Given the description of an element on the screen output the (x, y) to click on. 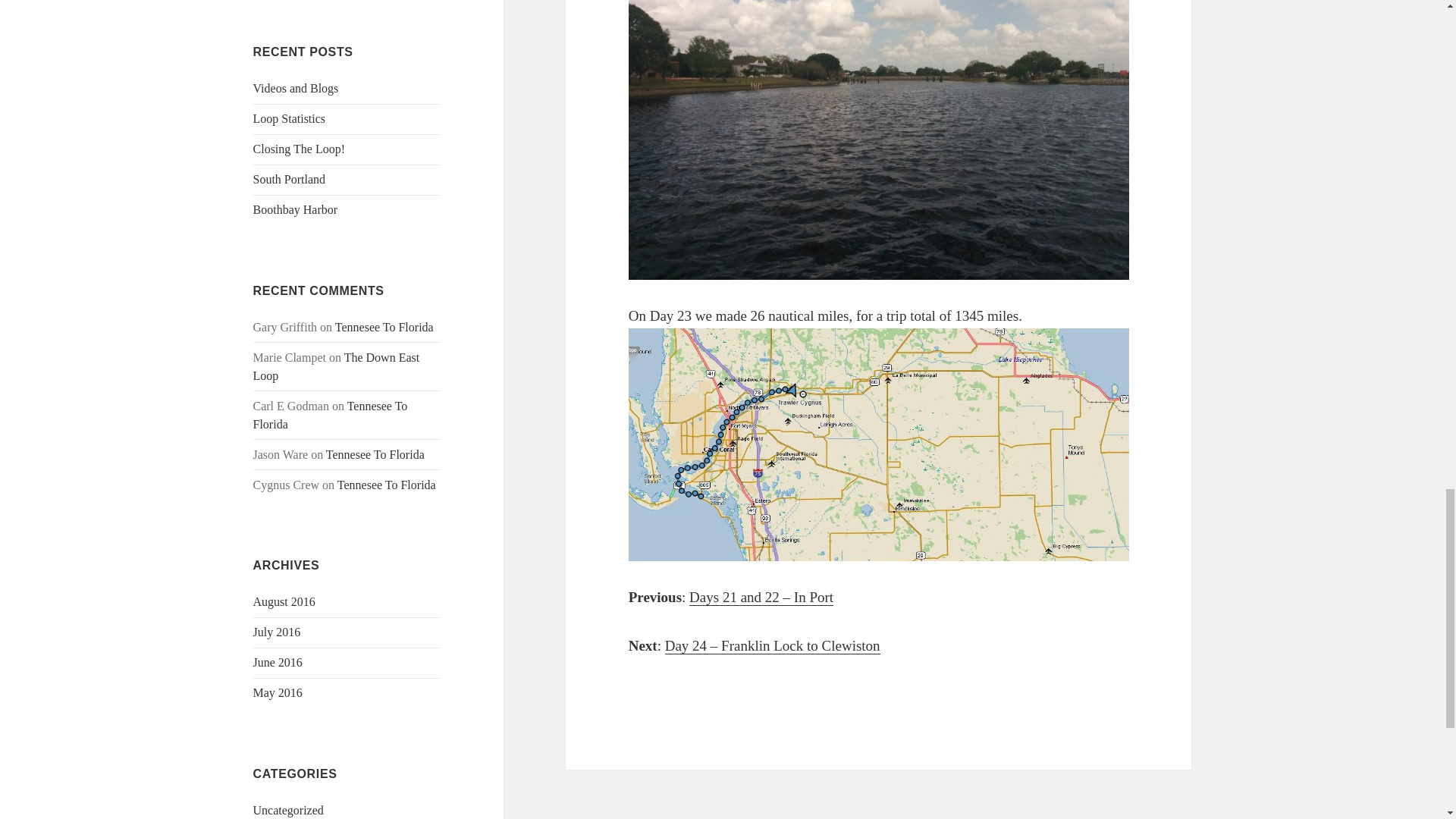
South Portland (289, 178)
Closing The Loop! (299, 148)
The Down East Loop (336, 366)
Tennesee To Florida (383, 327)
Loop Statistics (289, 118)
Tennesee To Florida (375, 454)
Tennesee To Florida (330, 414)
Boothbay Harbor (295, 209)
Videos and Blogs (296, 88)
